Given the description of an element on the screen output the (x, y) to click on. 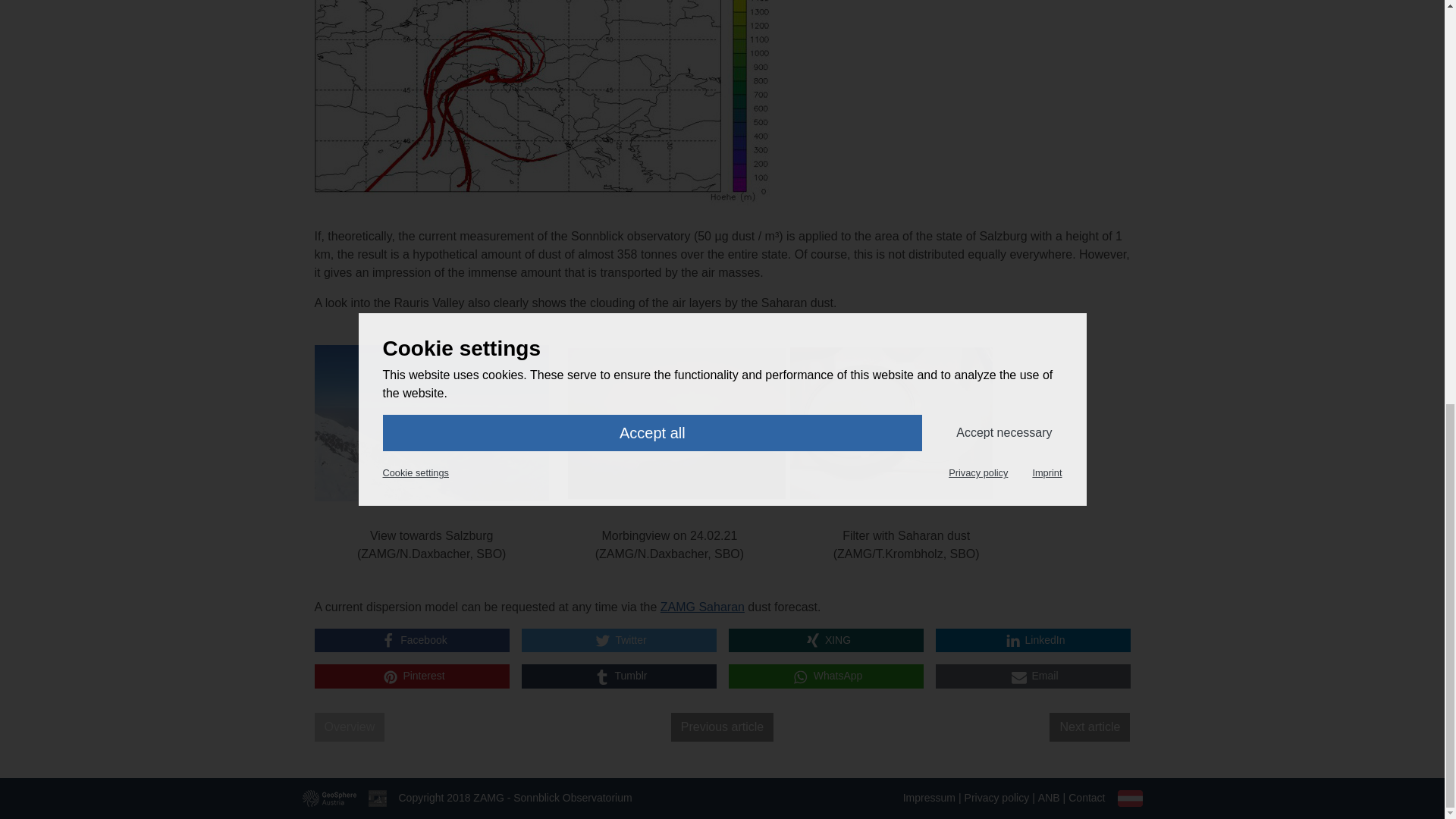
Share via WhatsApp (825, 675)
Share via Twitter (618, 639)
Share via Facebook (411, 639)
Share via XING (825, 639)
Share via Email (1033, 675)
Share via Pinterest (411, 675)
Share via LinkedIn (1033, 639)
Share via Tumblr (618, 675)
